Given the description of an element on the screen output the (x, y) to click on. 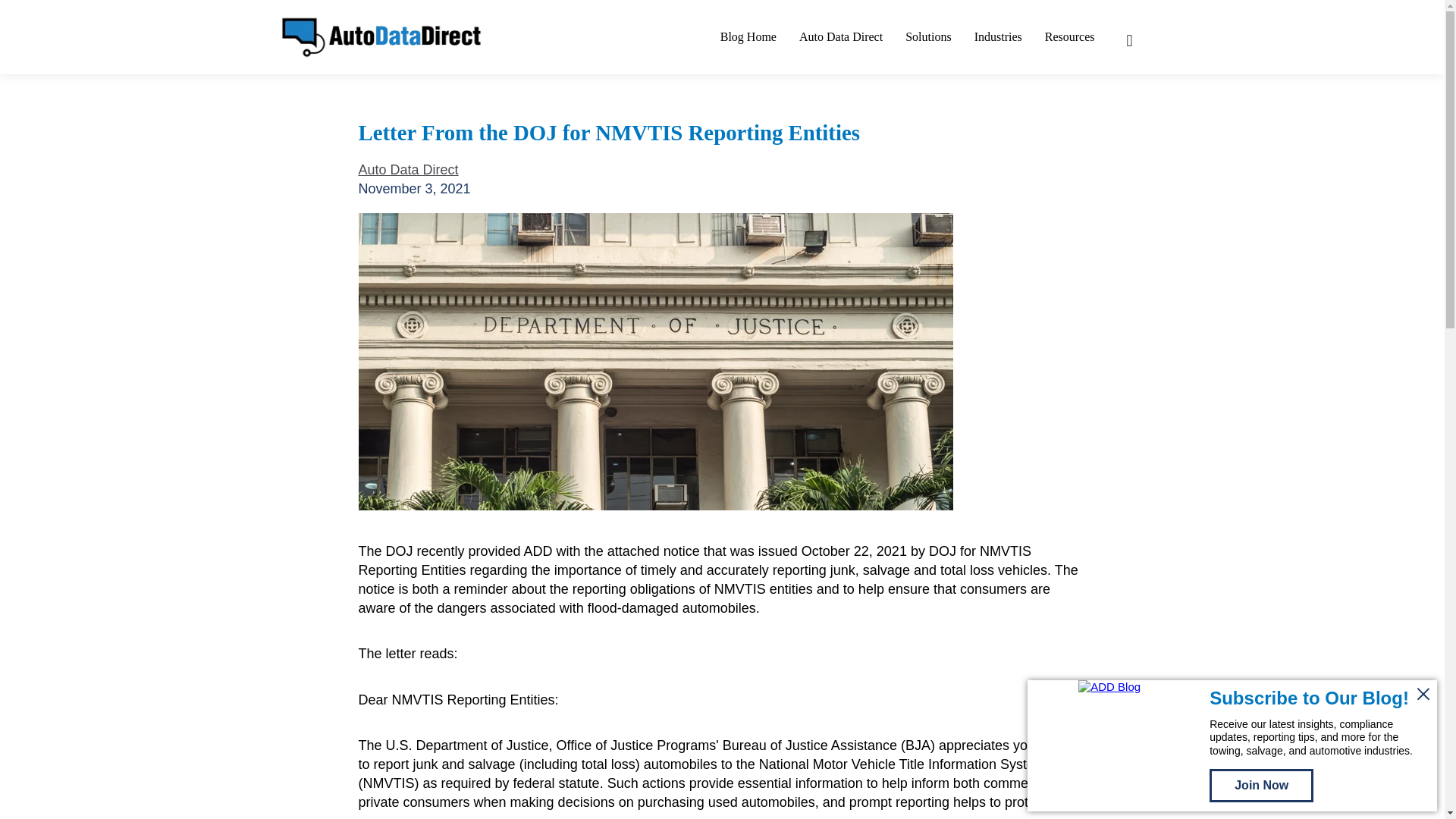
Solutions (928, 36)
Industries (997, 36)
Popup CTA (1232, 745)
Auto Data Direct (408, 169)
Blog Home (748, 36)
Resources (1069, 36)
Auto Data Direct (840, 36)
